Given the description of an element on the screen output the (x, y) to click on. 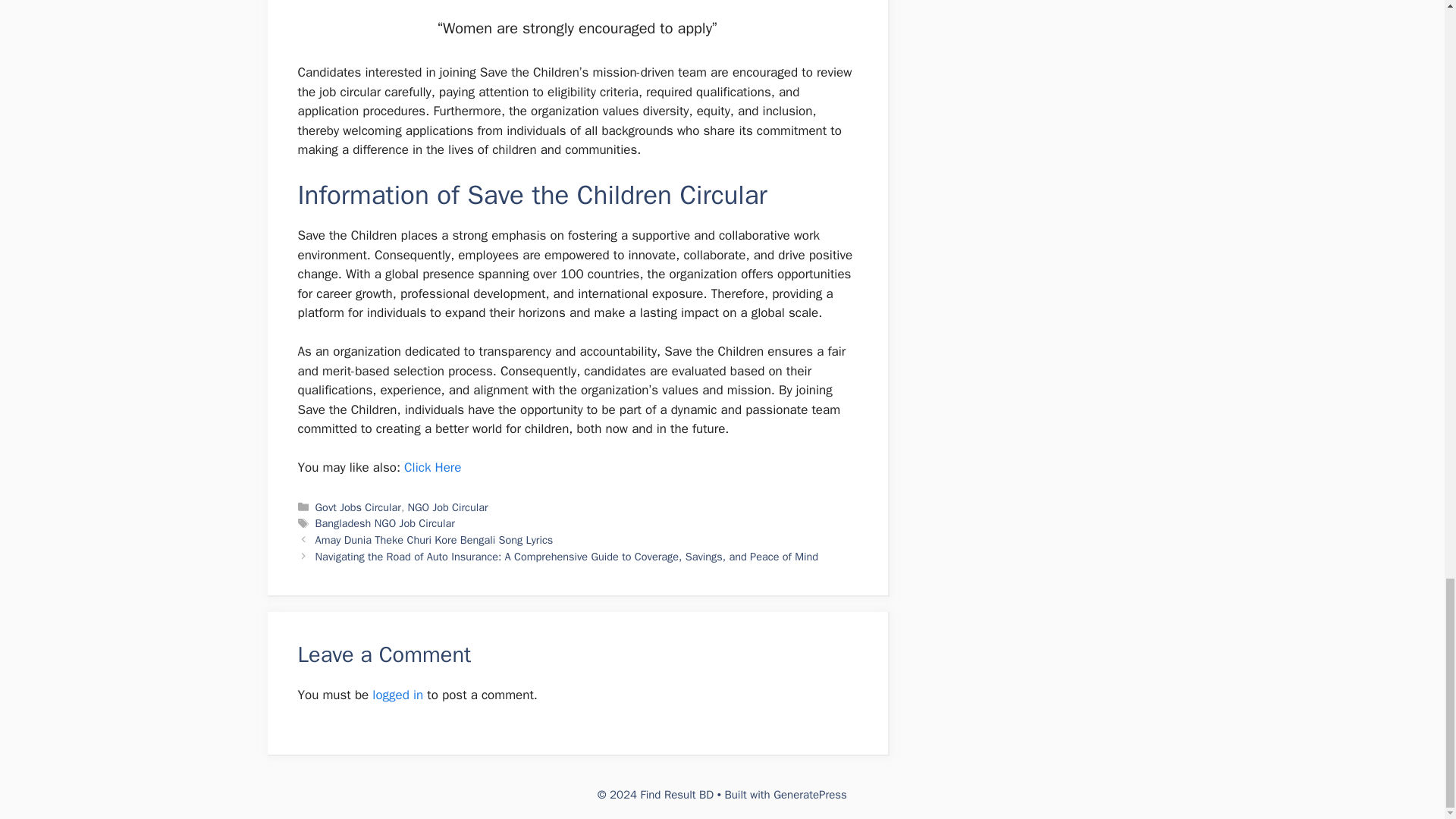
NGO Job Circular (447, 507)
logged in (397, 694)
Govt Jobs Circular (358, 507)
Click Here (432, 467)
Amay Dunia Theke Churi Kore Bengali Song Lyrics (434, 540)
Bangladesh NGO Job Circular (384, 522)
